Given the description of an element on the screen output the (x, y) to click on. 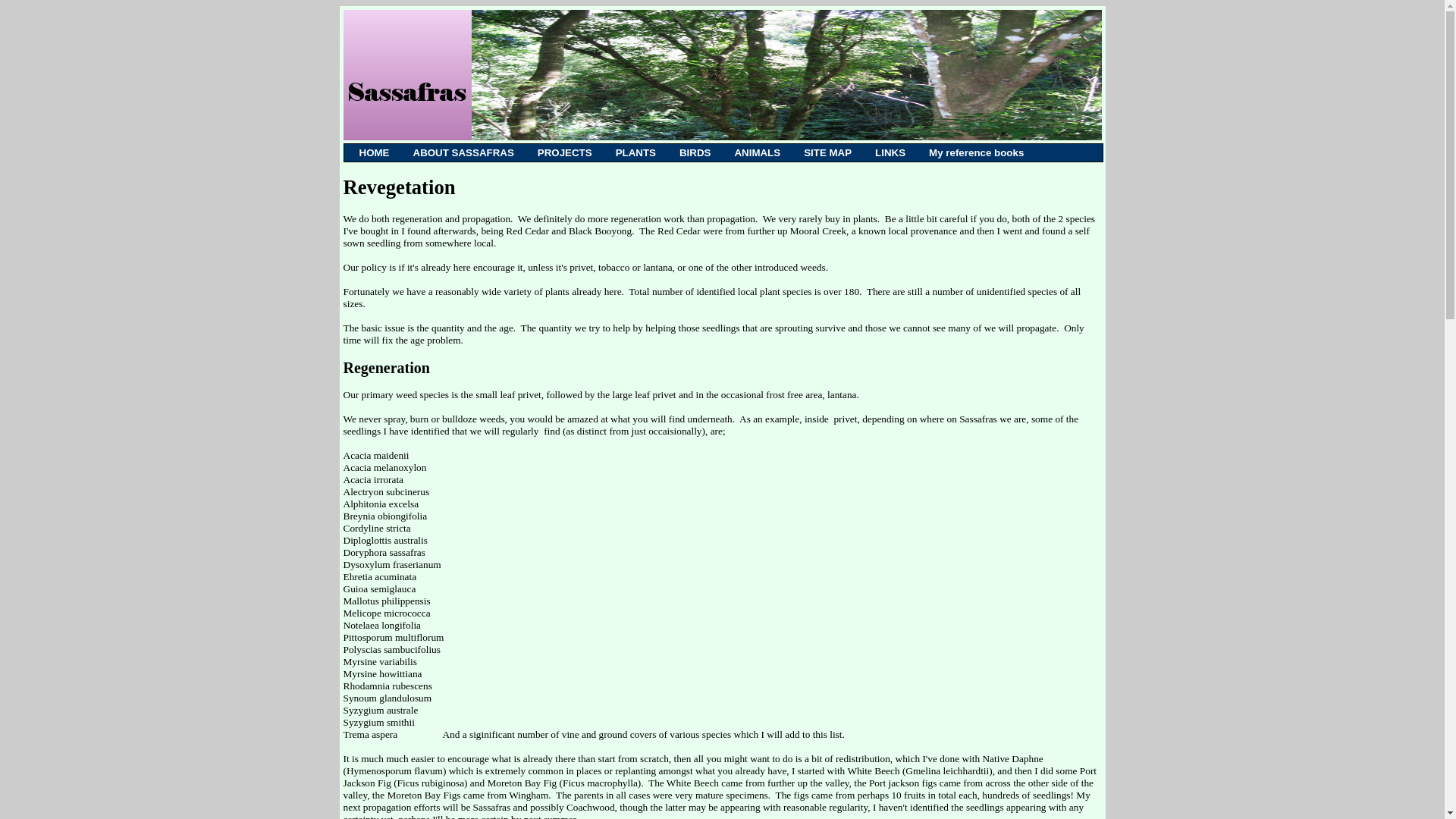
ANIMALS (756, 152)
BIRDS (694, 152)
My reference books (976, 152)
PROJECTS (564, 152)
LINKS (890, 152)
ABOUT SASSAFRAS (462, 152)
HOME (373, 152)
PLANTS (635, 152)
SITE MAP (827, 152)
